Given the description of an element on the screen output the (x, y) to click on. 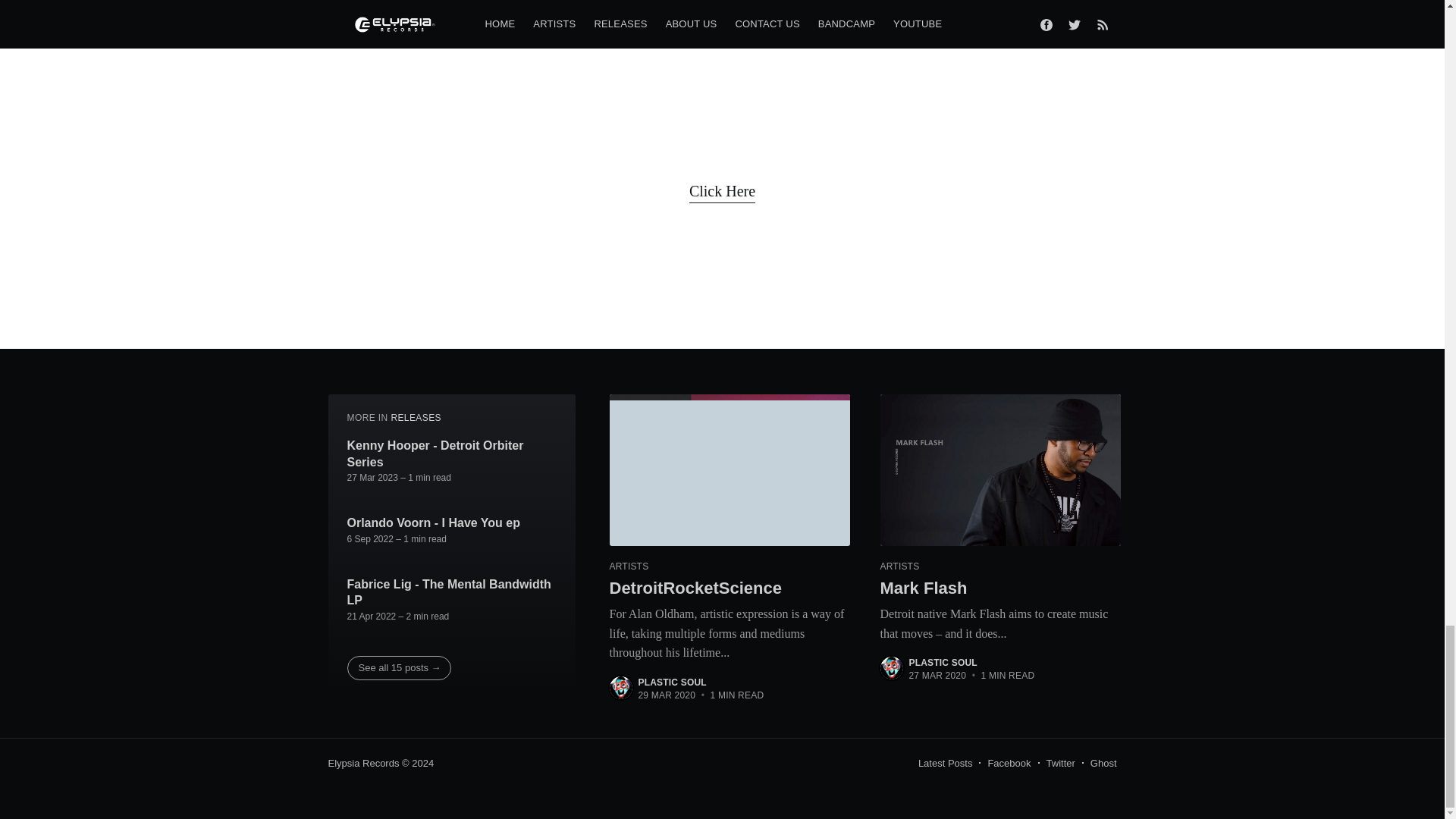
Elypsia Records (362, 763)
Facebook (1008, 763)
Fabrice Lig - The Mental Bandwidth LP (451, 592)
Kenny Hooper - Detroit Orbiter Series (451, 453)
Latest Posts (945, 763)
PLASTIC SOUL (942, 662)
PLASTIC SOUL (672, 682)
Orlando Voorn - I Have You ep (433, 523)
RELEASES (415, 417)
Ghost (1103, 763)
Click Here (721, 191)
Twitter (1060, 763)
